Given the description of an element on the screen output the (x, y) to click on. 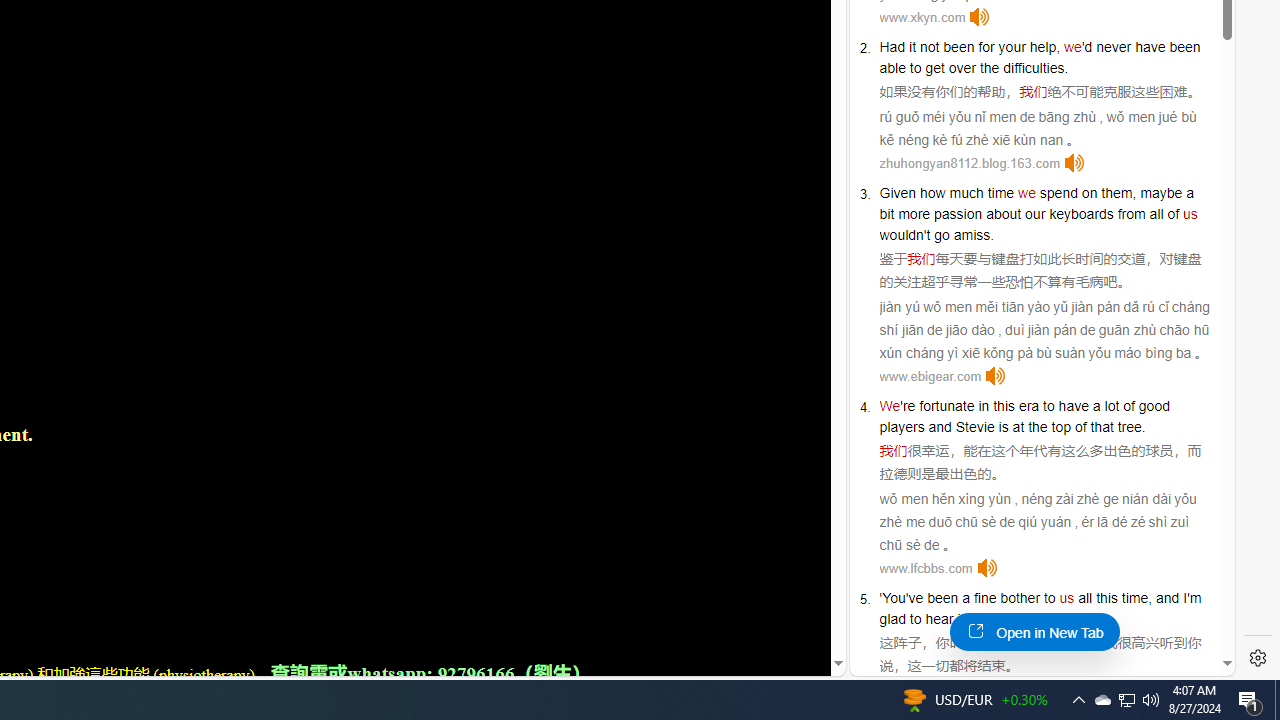
never (1113, 46)
spend (1058, 192)
difficulties (1033, 67)
. (1060, 619)
all (1085, 597)
zhuhongyan8112.blog.163.com (969, 163)
